Given the description of an element on the screen output the (x, y) to click on. 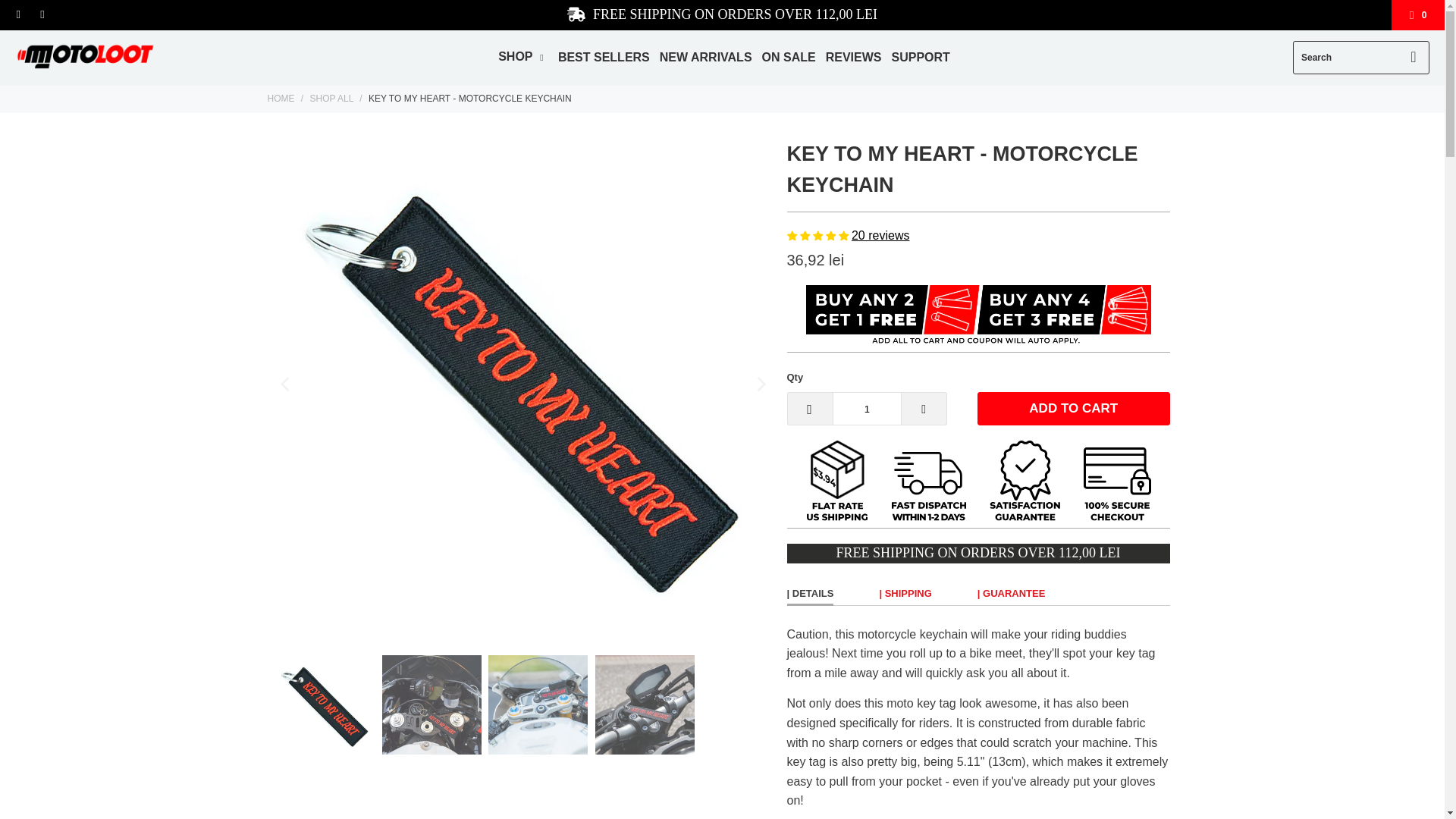
Moto Loot (84, 57)
Moto Loot on Instagram (41, 14)
Shop All (331, 98)
Moto Loot on Facebook (17, 14)
1 (866, 408)
Moto Loot (280, 98)
